Given the description of an element on the screen output the (x, y) to click on. 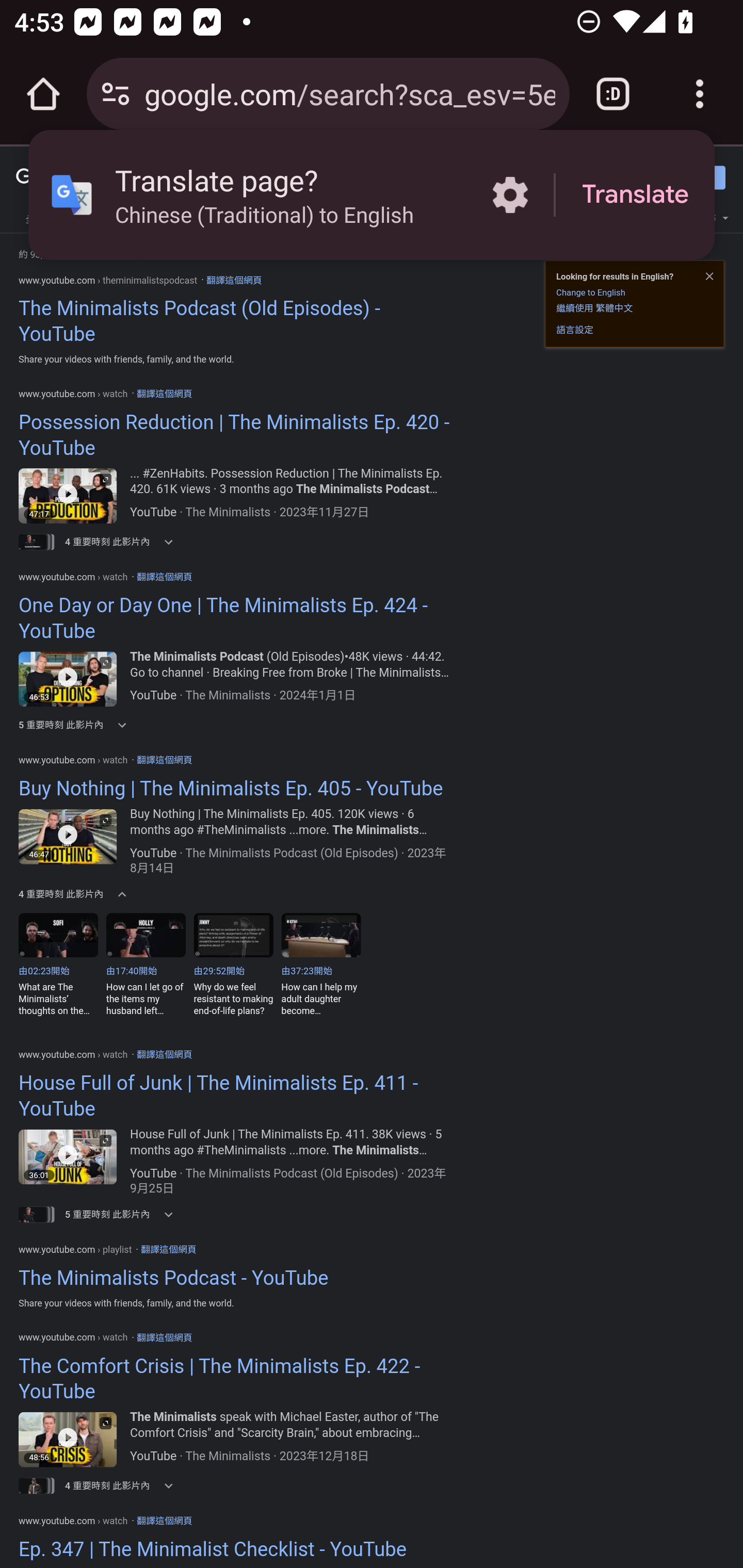
Open the home page (43, 93)
Connection is secure (115, 93)
Switch or close tabs (612, 93)
Customize and control Google Chrome (699, 93)
Translate (634, 195)
More options in the Translate page? (509, 195)
翻譯這個網頁 (233, 279)
Change to English (590, 291)
繼續使用 繁體中文 繼續使用  繁體中文 (594, 307)
語言設定 (574, 329)
翻譯這個網頁 (164, 394)
4 重要時刻  此影片內 (124, 541)
翻譯這個網頁 (164, 576)
5 重要時刻  此影片內 (124, 724)
翻譯這個網頁 (164, 759)
4 重要時刻  此影片內 (124, 894)
翻譯這個網頁 (164, 1054)
5 重要時刻  此影片內 (124, 1214)
翻譯這個網頁 (168, 1248)
翻譯這個網頁 (164, 1336)
4 重要時刻  此影片內 (124, 1485)
翻譯這個網頁 (164, 1520)
